Given the description of an element on the screen output the (x, y) to click on. 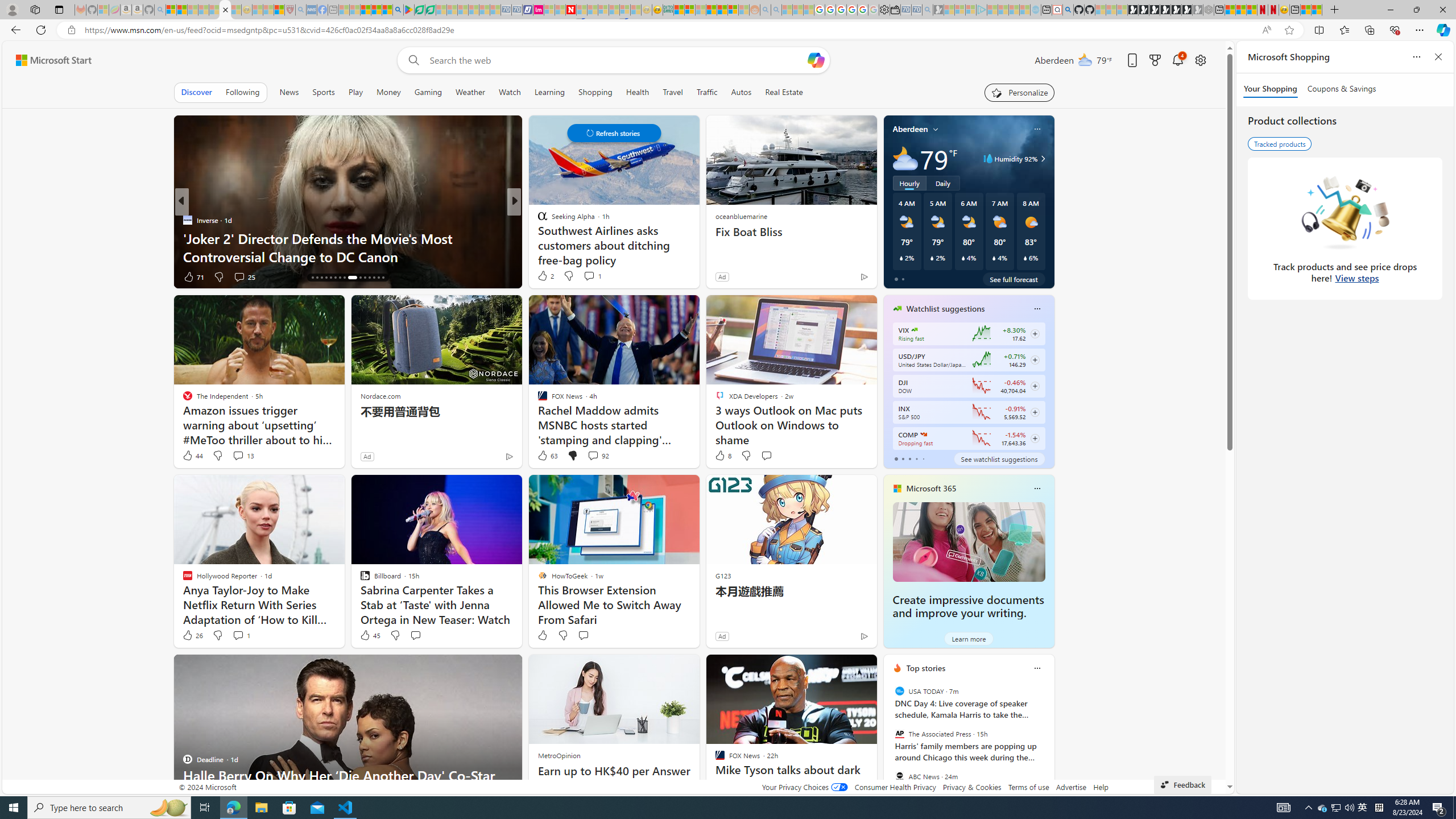
News (288, 92)
Skip to content (49, 59)
Real Estate (783, 92)
list of asthma inhalers uk - Search - Sleeping (301, 9)
AutomationID: tab-21 (335, 277)
Scripps News (537, 219)
View comments 3 Comment (589, 276)
DITOGAMES AG Imprint (668, 9)
Bing Real Estate - Home sales and rental listings - Sleeping (927, 9)
tab-0 (895, 458)
22 Like (543, 276)
